Given the description of an element on the screen output the (x, y) to click on. 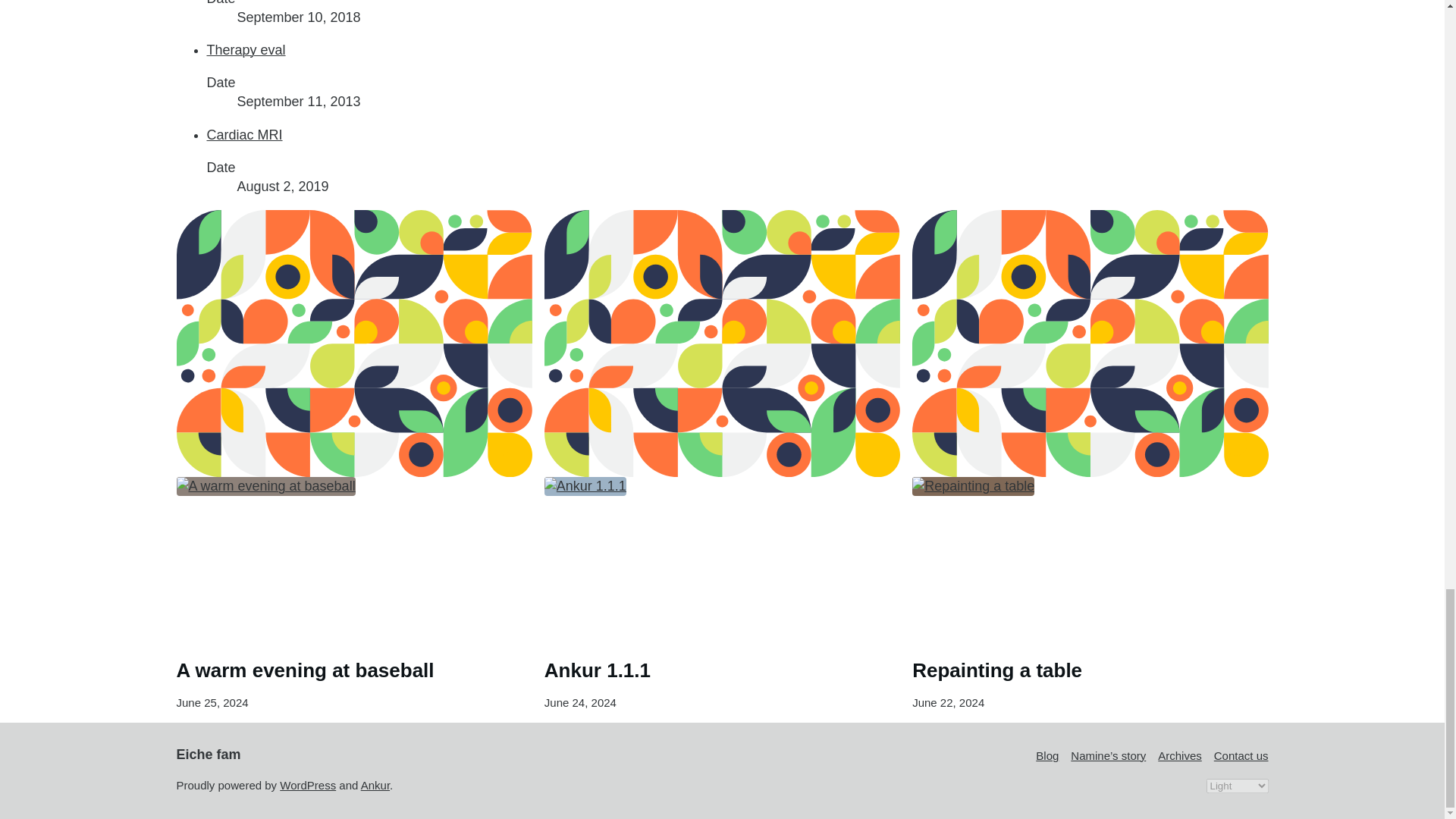
Eiche fam (208, 754)
WordPress (307, 784)
Contact us (1241, 755)
Archives (1179, 755)
Cardiac MRI (244, 134)
Ankur (375, 784)
Blog (1046, 755)
Therapy eval (245, 49)
Repainting a table (996, 670)
A warm evening at baseball (304, 670)
